Given the description of an element on the screen output the (x, y) to click on. 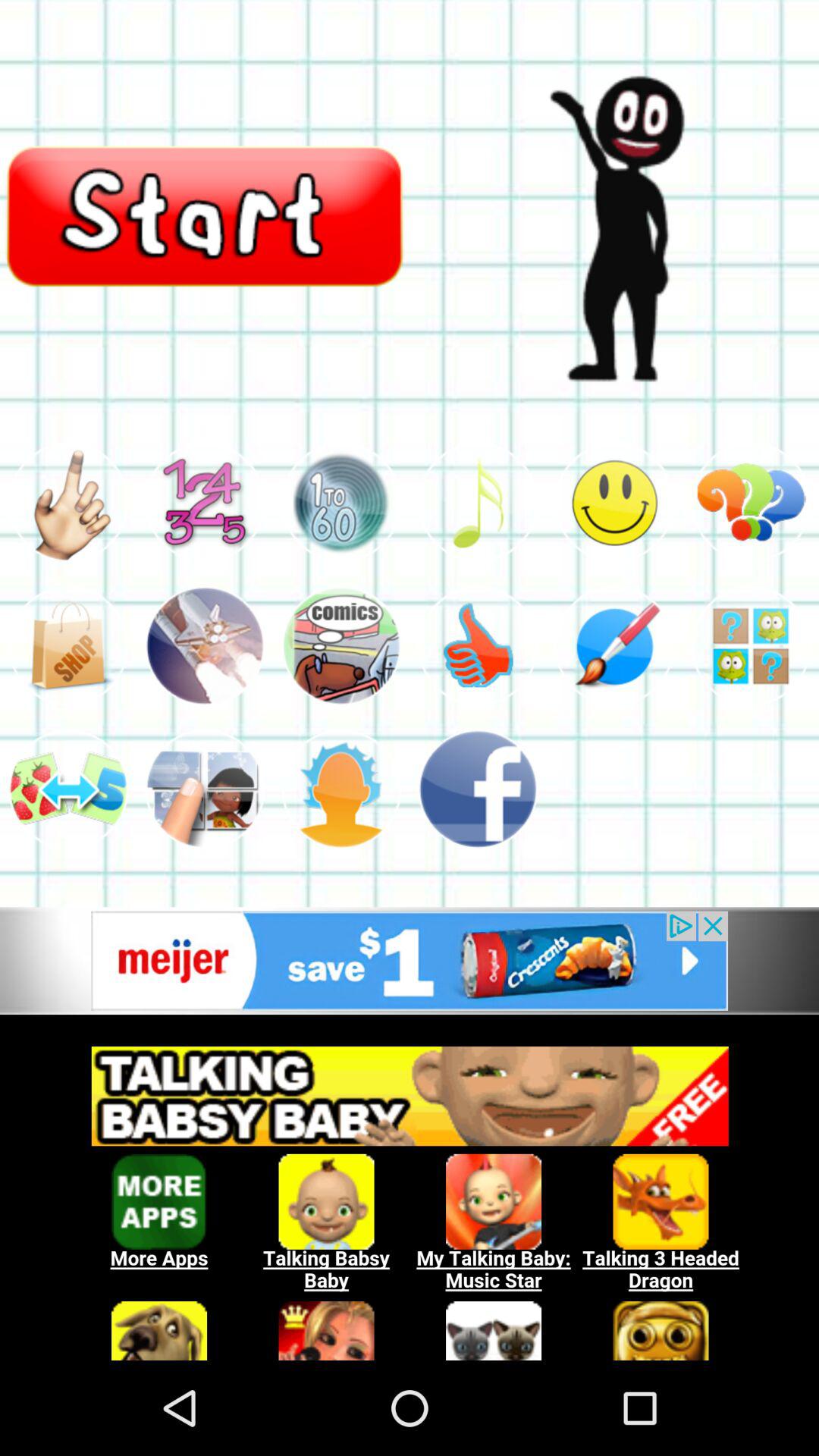
select item (341, 645)
